Given the description of an element on the screen output the (x, y) to click on. 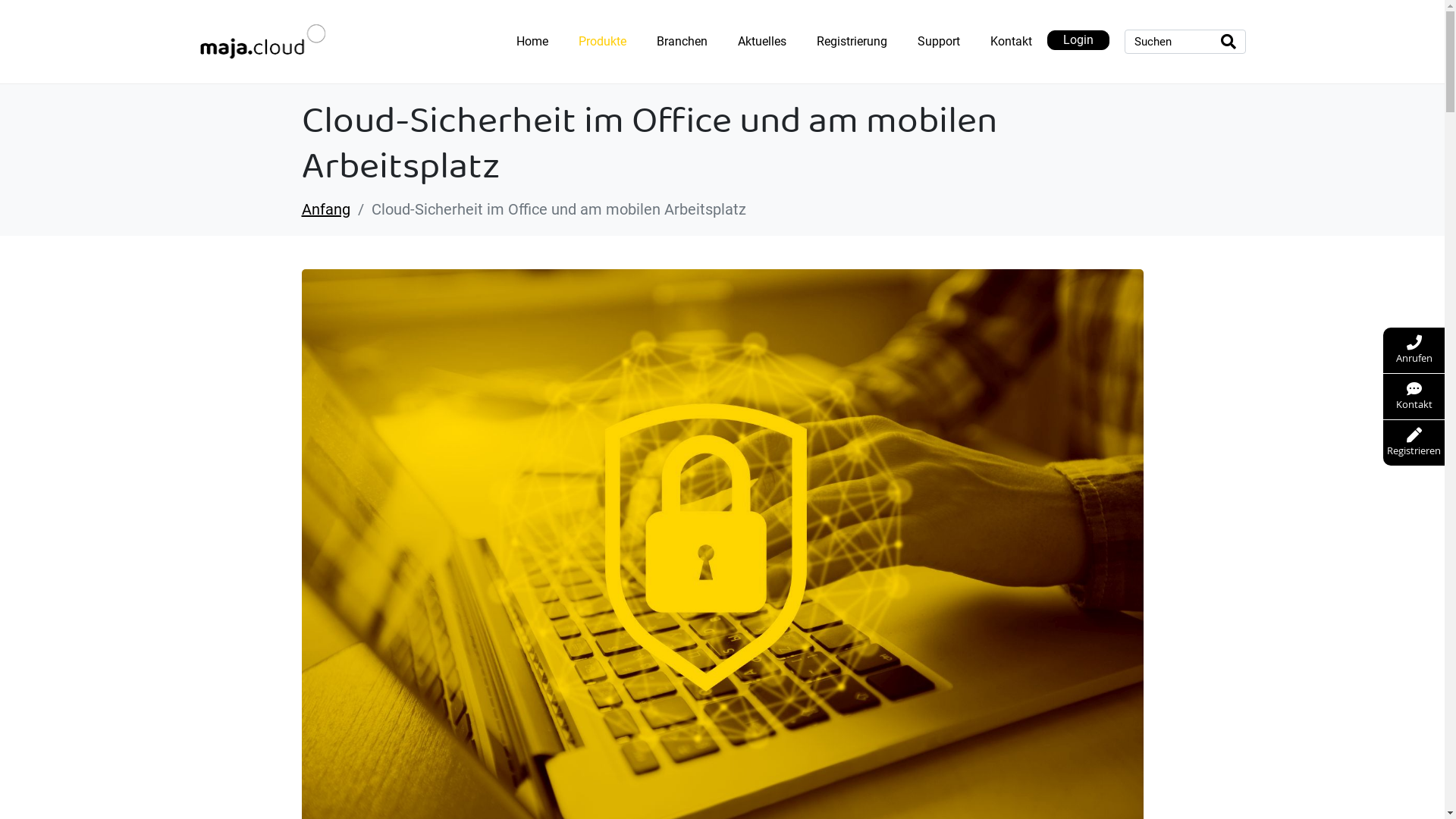
Support Element type: text (938, 41)
Registrierung Element type: text (850, 41)
Kontakt Element type: text (1011, 41)
Anfang Element type: text (325, 209)
Aktuelles Element type: text (760, 41)
Login Element type: text (1077, 40)
Anrufen Element type: text (1413, 350)
Produkte Element type: text (601, 41)
Branchen Element type: text (681, 41)
Home Element type: text (531, 41)
Kontakt Element type: text (1413, 396)
Registrieren Element type: text (1413, 442)
